Given the description of an element on the screen output the (x, y) to click on. 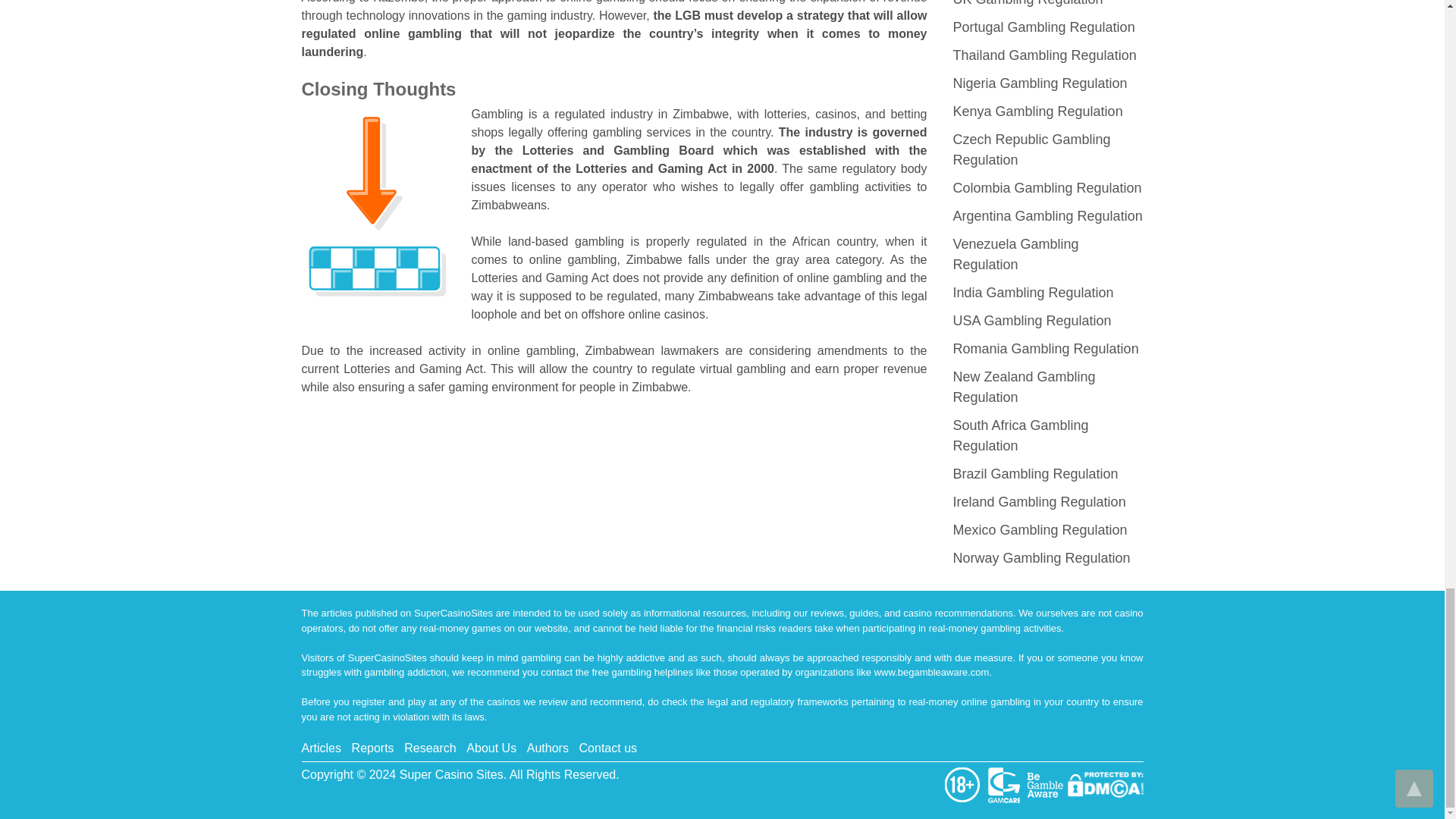
DMCA.com Protection Status (1104, 783)
Gam Care (1005, 783)
Gamble Awere (1046, 783)
